Given the description of an element on the screen output the (x, y) to click on. 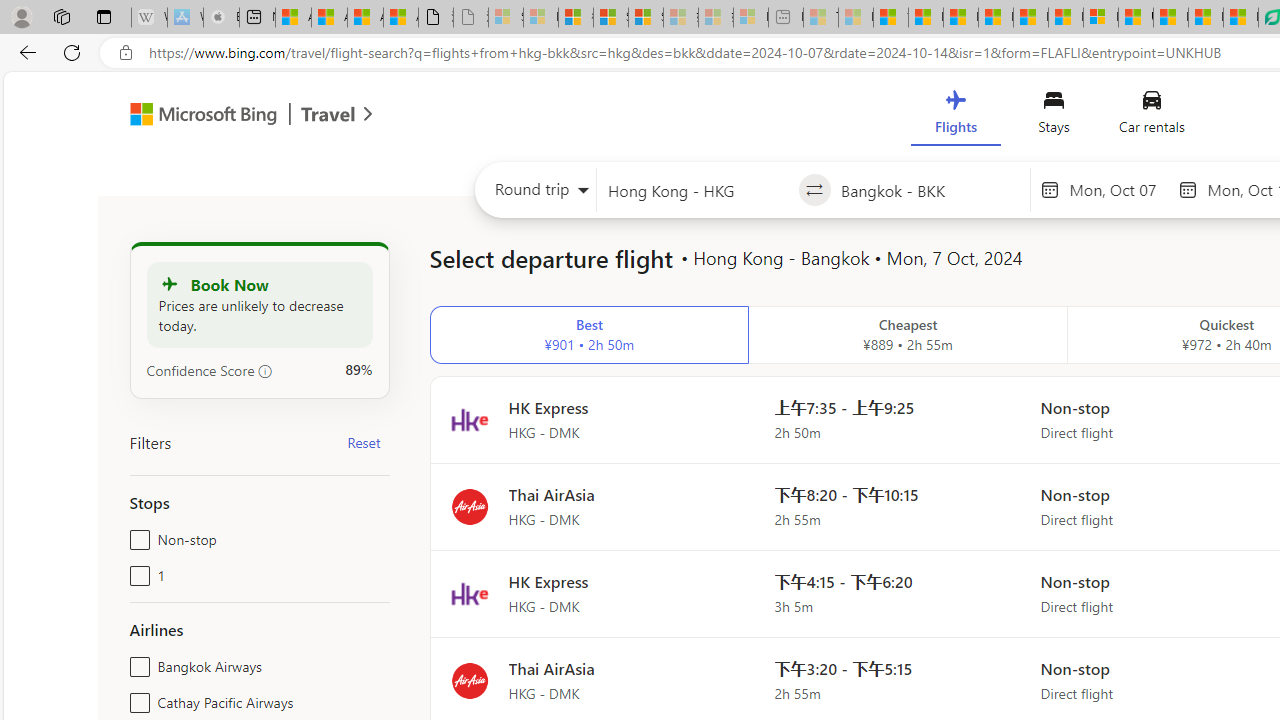
Microsoft Services Agreement - Sleeping (540, 17)
Foo BAR | Trusted Community Engagement and Contributions (1065, 17)
New tab - Sleeping (785, 17)
Class: autosuggest-container full-height no-y-padding (930, 190)
Aberdeen, Hong Kong SAR weather forecast | Microsoft Weather (329, 17)
Bangkok Airways (136, 662)
Non-stop (136, 535)
Travel (328, 116)
